Given the description of an element on the screen output the (x, y) to click on. 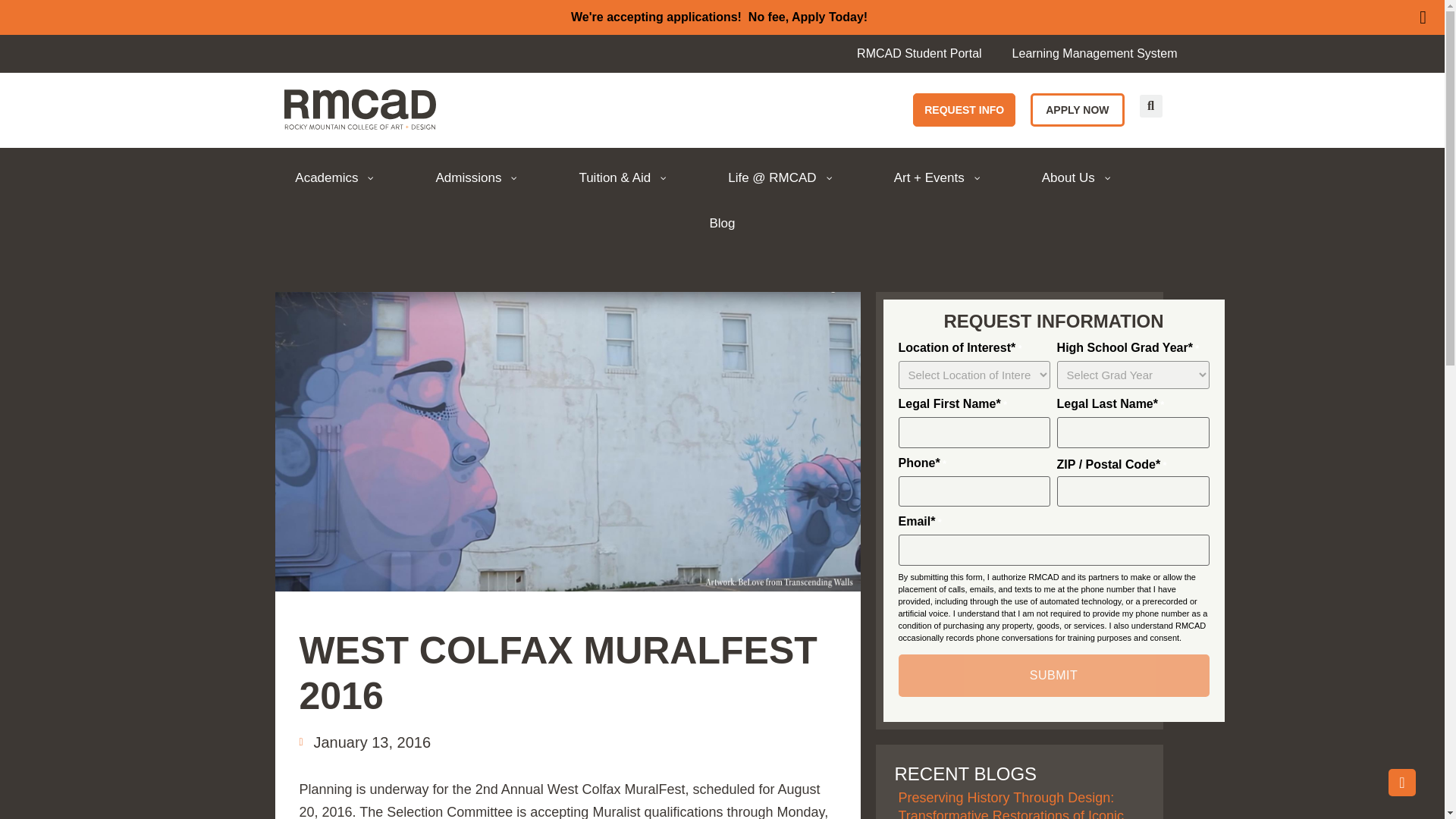
RMCAD Student Portal (919, 52)
APPLY NOW (1077, 109)
REQUEST INFO (963, 109)
Apply Today (827, 16)
Learning Management System (1094, 52)
Submit (1053, 675)
